Given the description of an element on the screen output the (x, y) to click on. 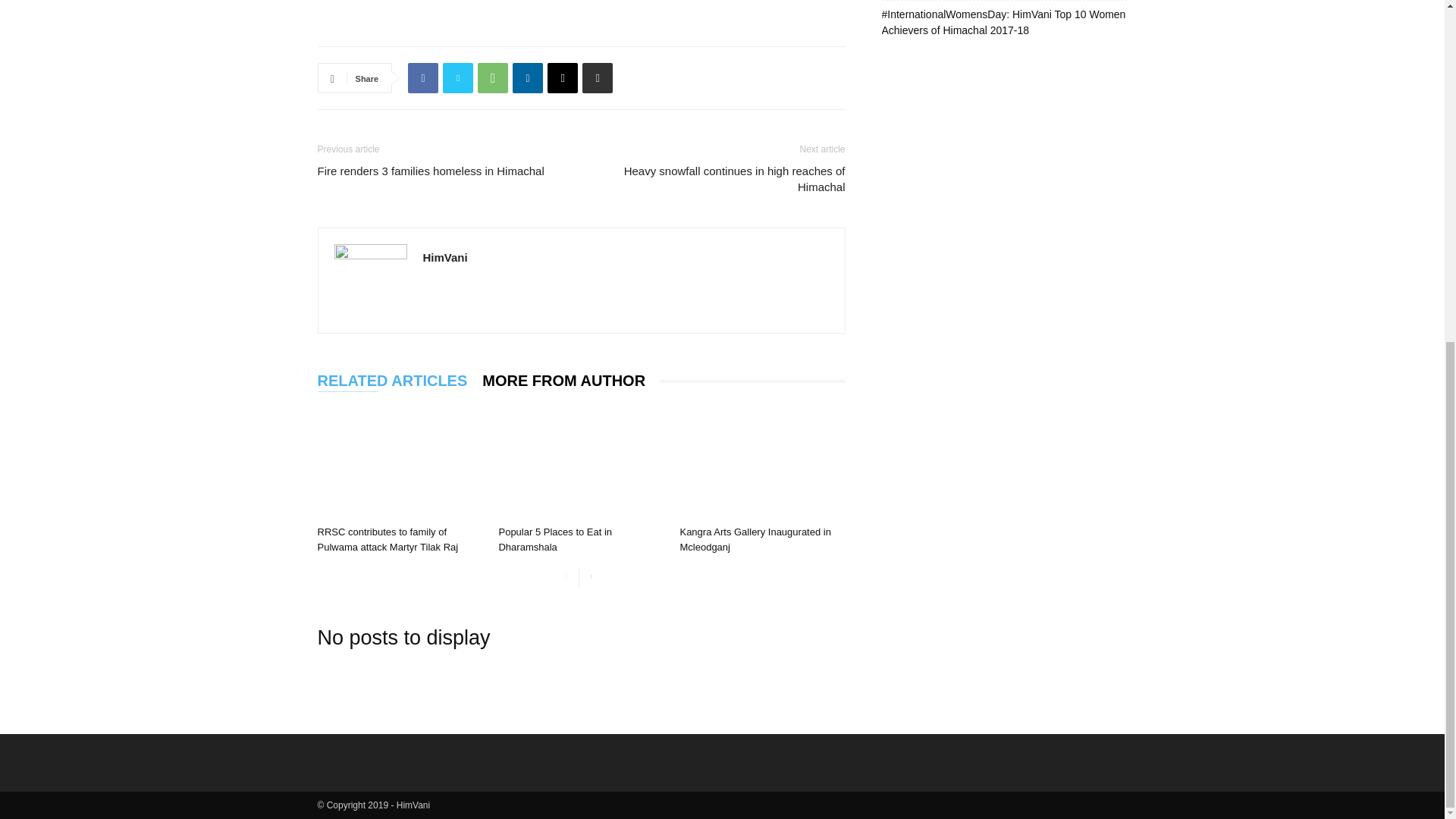
Facebook (422, 78)
HimVani (445, 256)
Fire renders 3 families homeless in Himachal (430, 170)
RELATED ARTICLES (399, 381)
MORE FROM AUTHOR (571, 381)
Heavy snowfall continues in high reaches of Himachal (721, 178)
Advertisement (580, 9)
